Given the description of an element on the screen output the (x, y) to click on. 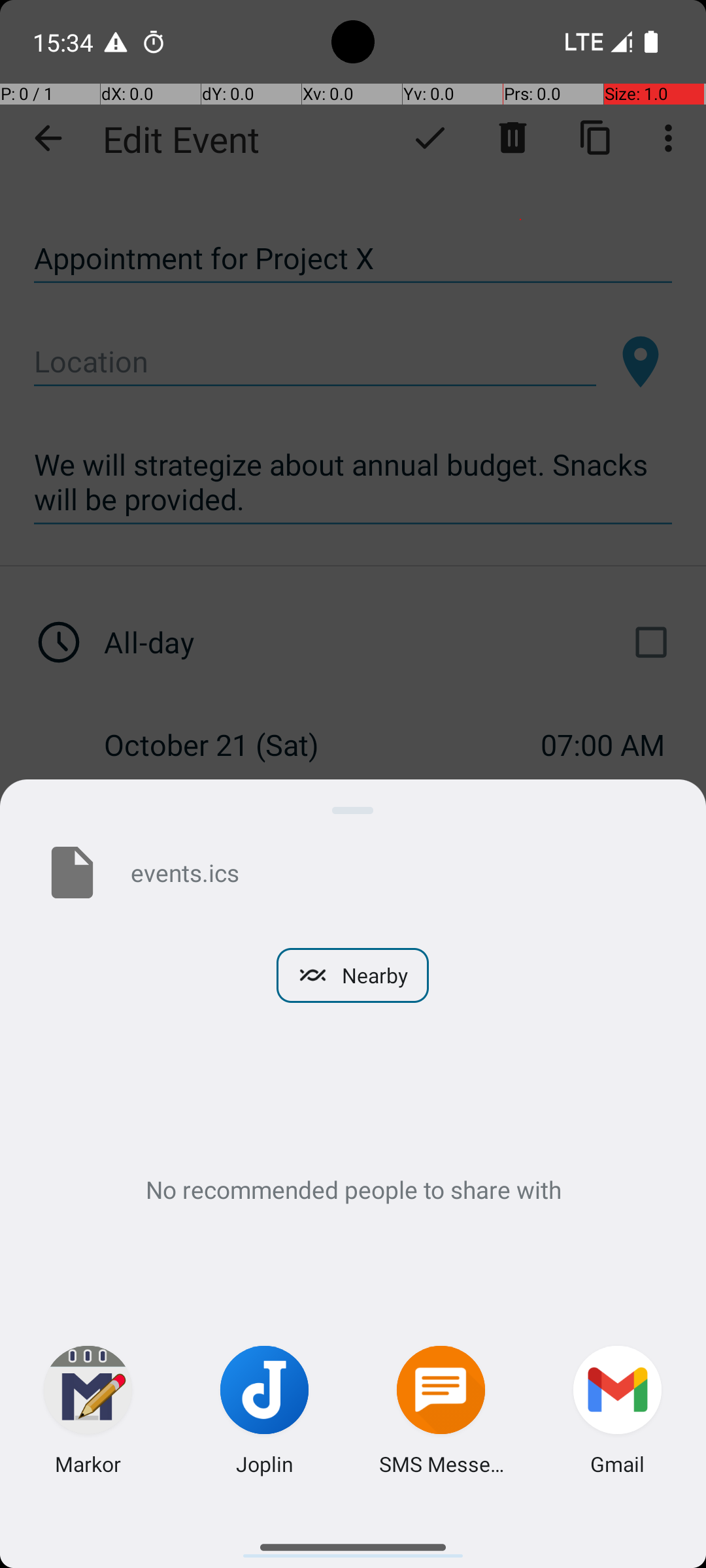
Apps list Element type: android.widget.ImageView (353, 1541)
events.ics Element type: android.widget.TextView (397, 872)
Nearby Element type: android.widget.Button (352, 975)
No recommended people to share with Element type: android.widget.TextView (353, 1189)
Joplin Element type: android.widget.TextView (264, 1463)
SMS Messenger Element type: android.widget.TextView (440, 1463)
